Given the description of an element on the screen output the (x, y) to click on. 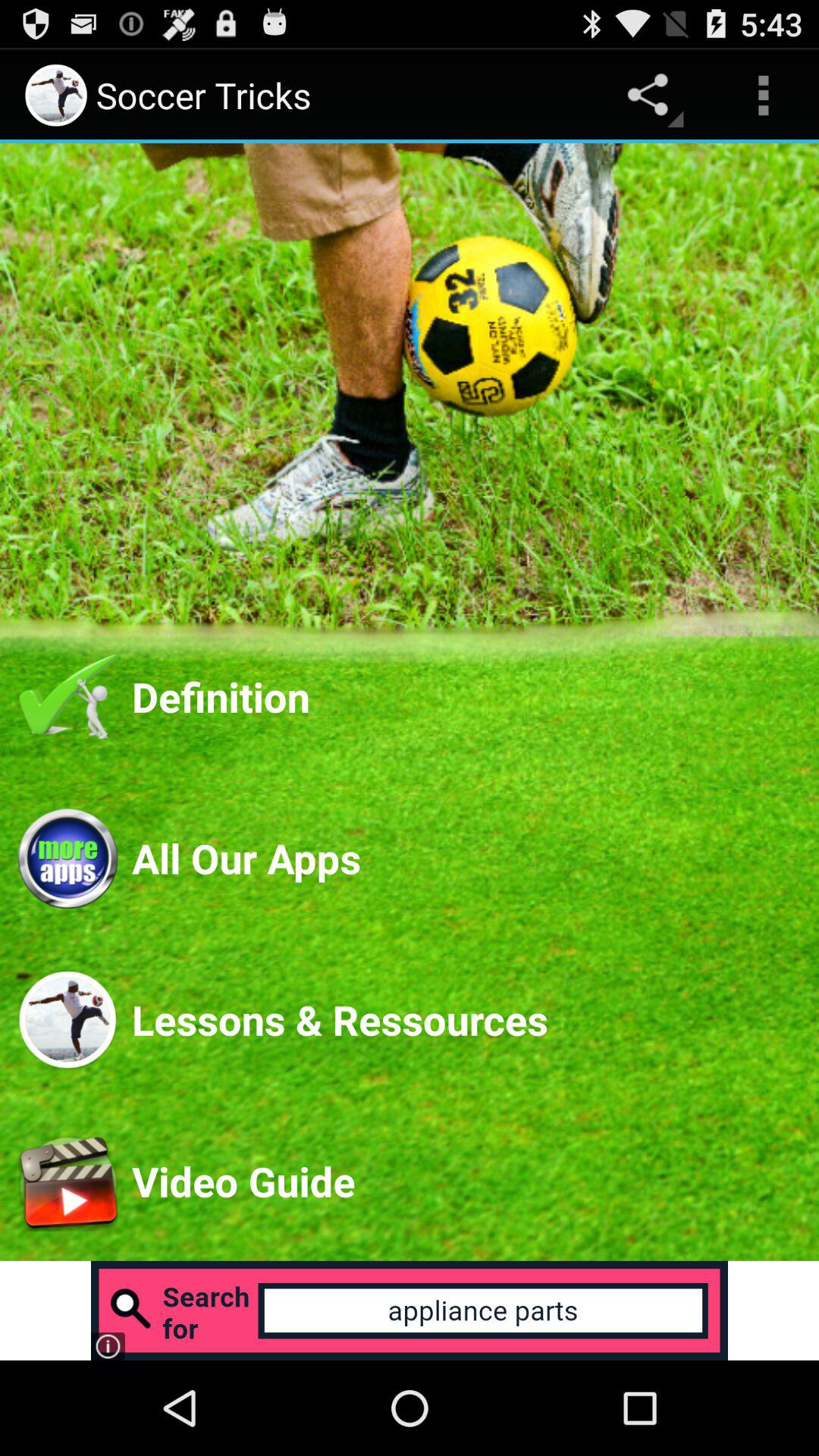
select the app below the all our apps app (465, 1019)
